Given the description of an element on the screen output the (x, y) to click on. 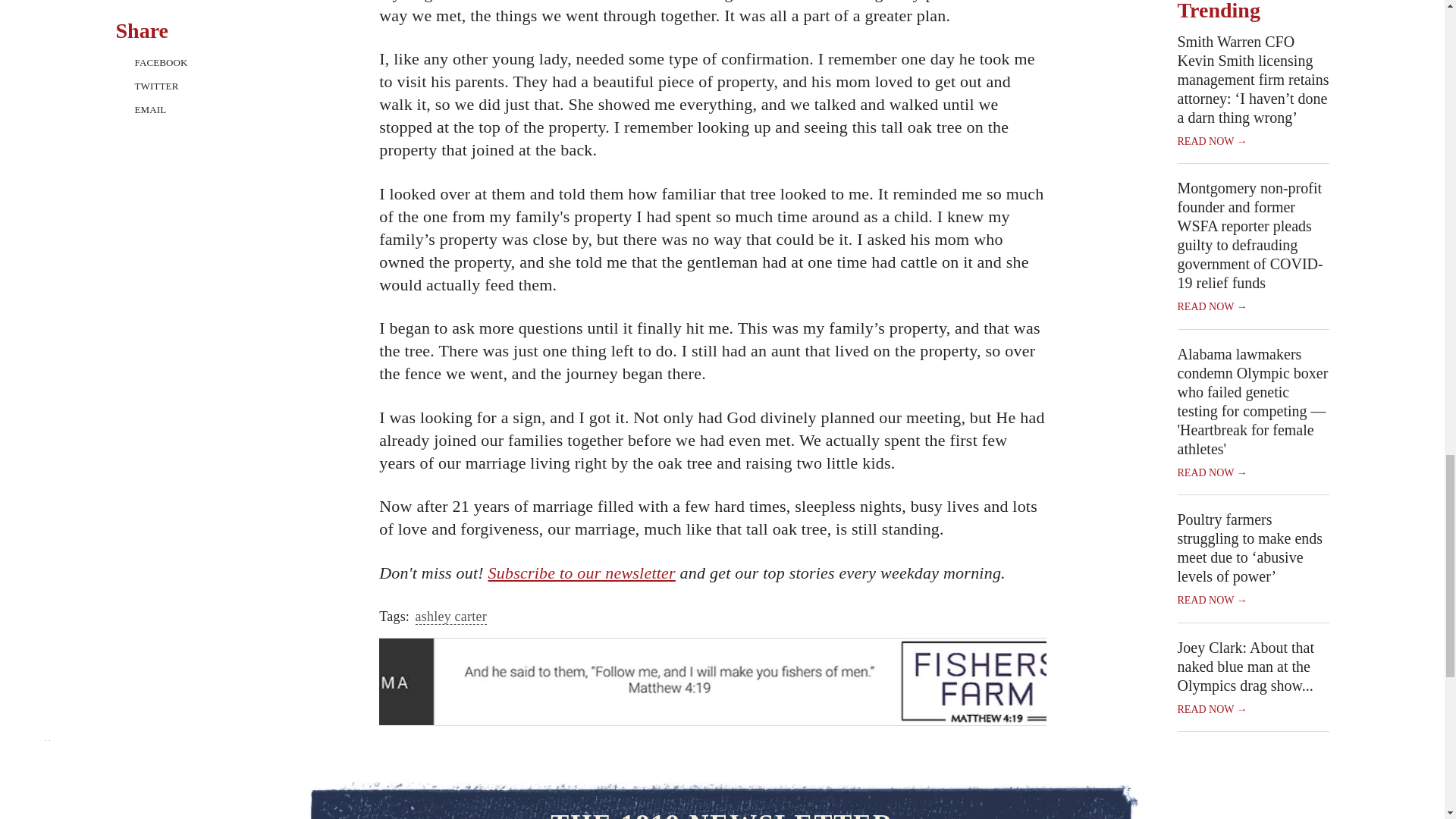
NCF (712, 681)
